Given the description of an element on the screen output the (x, y) to click on. 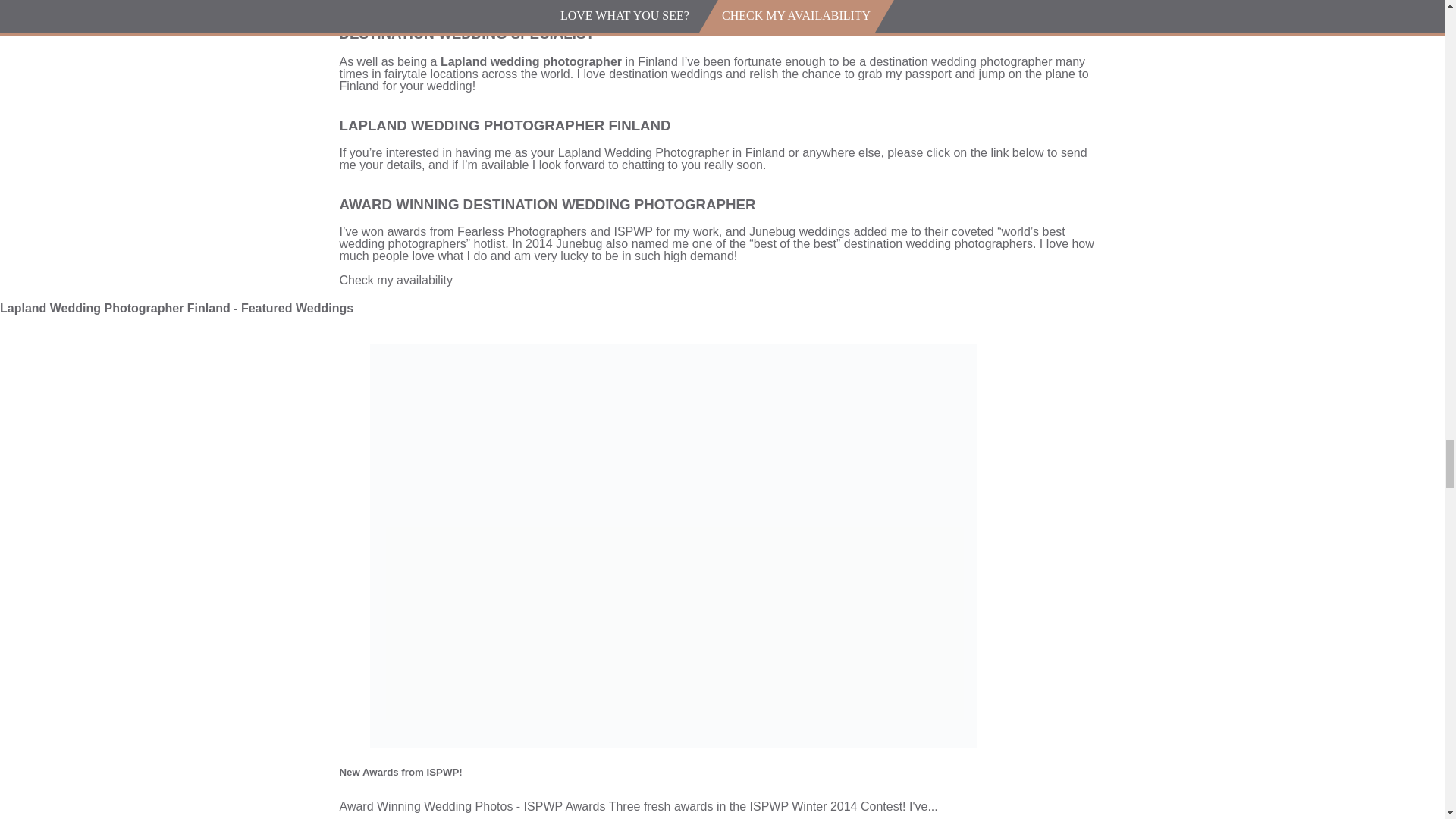
Check my availability (395, 6)
New Awards from ISPWP! (401, 772)
Check my availability (395, 279)
